Given the description of an element on the screen output the (x, y) to click on. 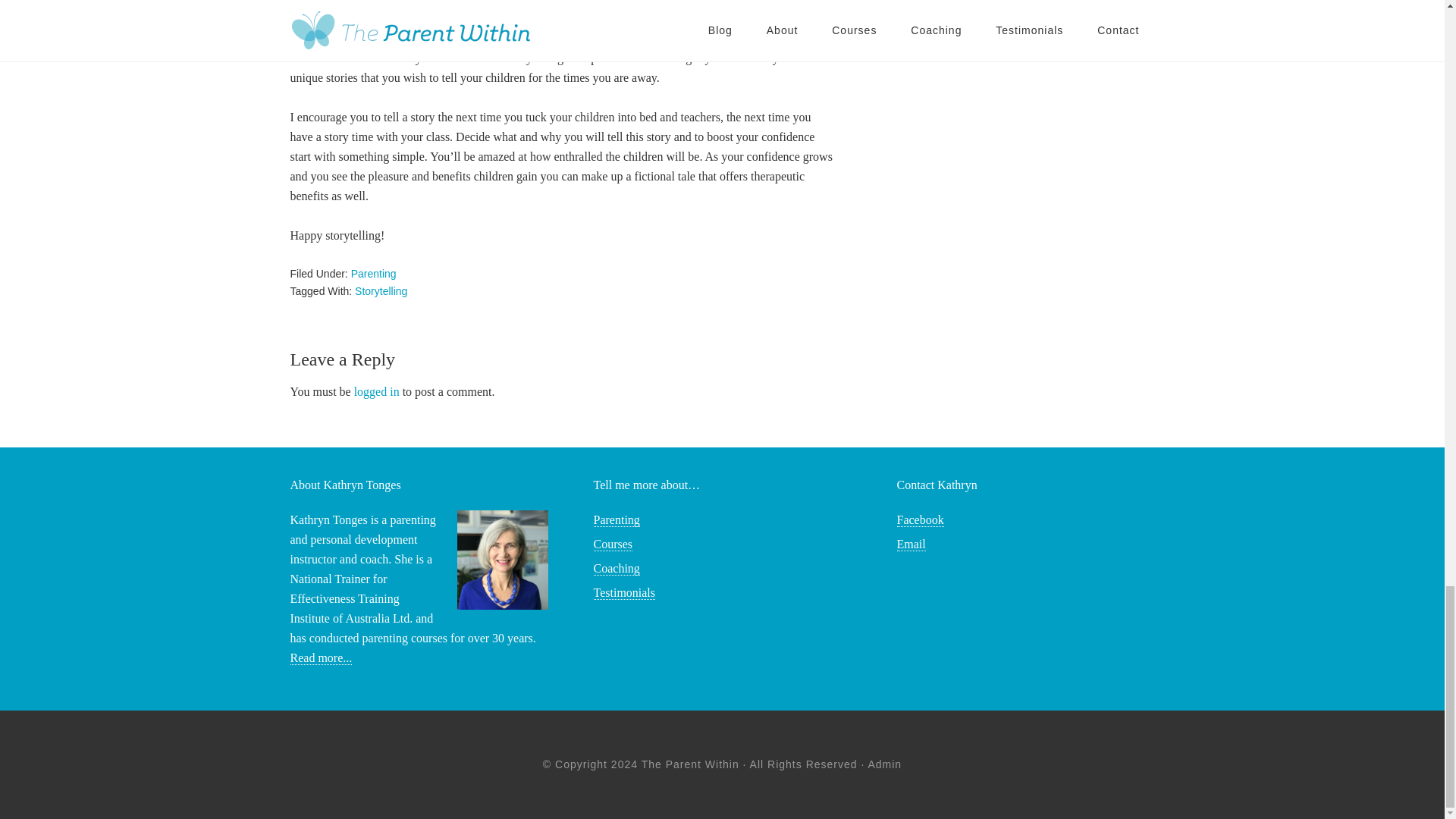
Courses (611, 544)
The Parent Within (690, 764)
Read more... (320, 658)
Parenting (373, 273)
Coaching (615, 568)
Storytelling (381, 291)
logged in (375, 391)
Admin (884, 764)
Testimonials (623, 592)
Facebook (919, 520)
Email (910, 544)
Parenting (615, 520)
